Given the description of an element on the screen output the (x, y) to click on. 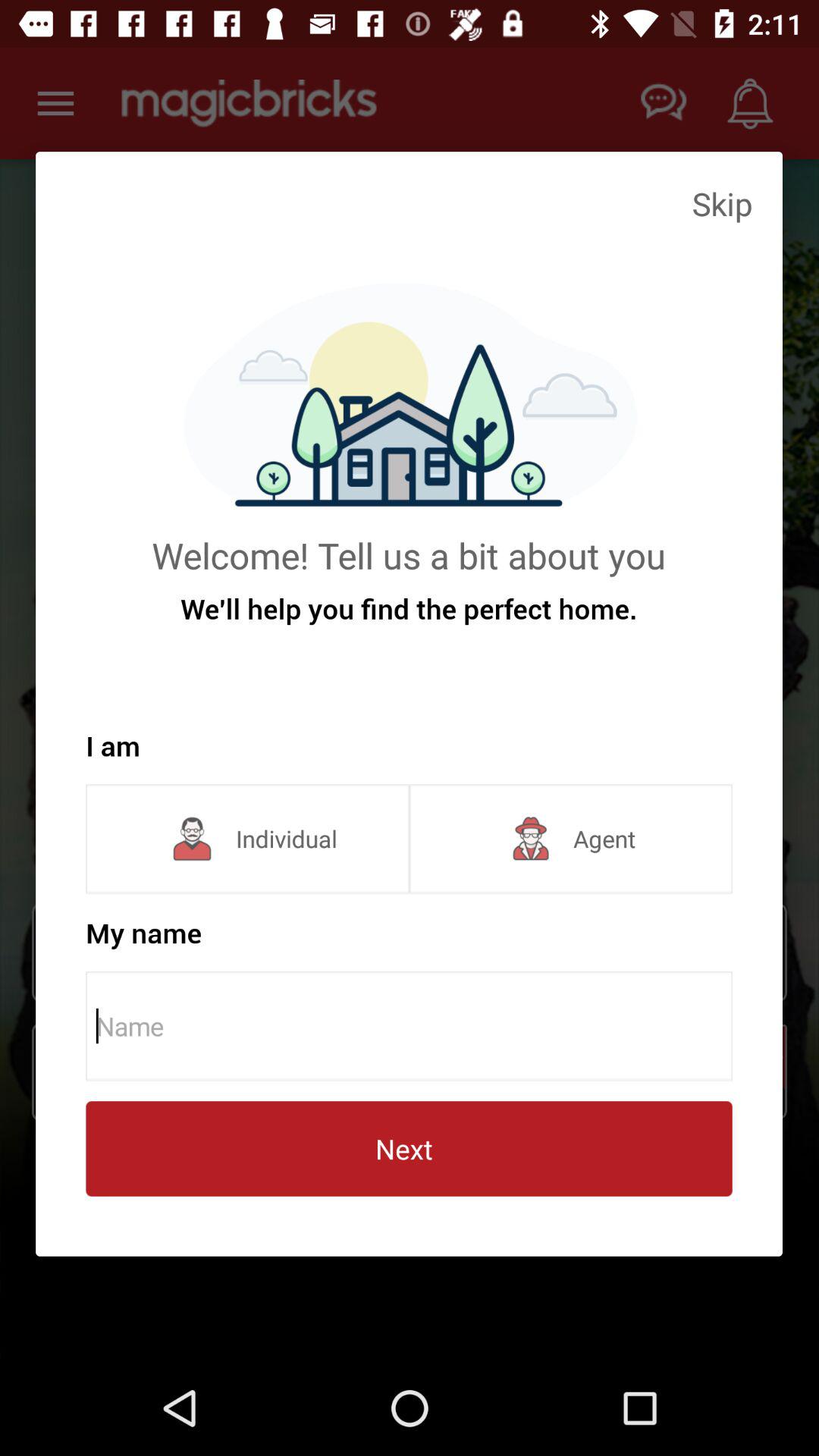
enter name (414, 1026)
